Given the description of an element on the screen output the (x, y) to click on. 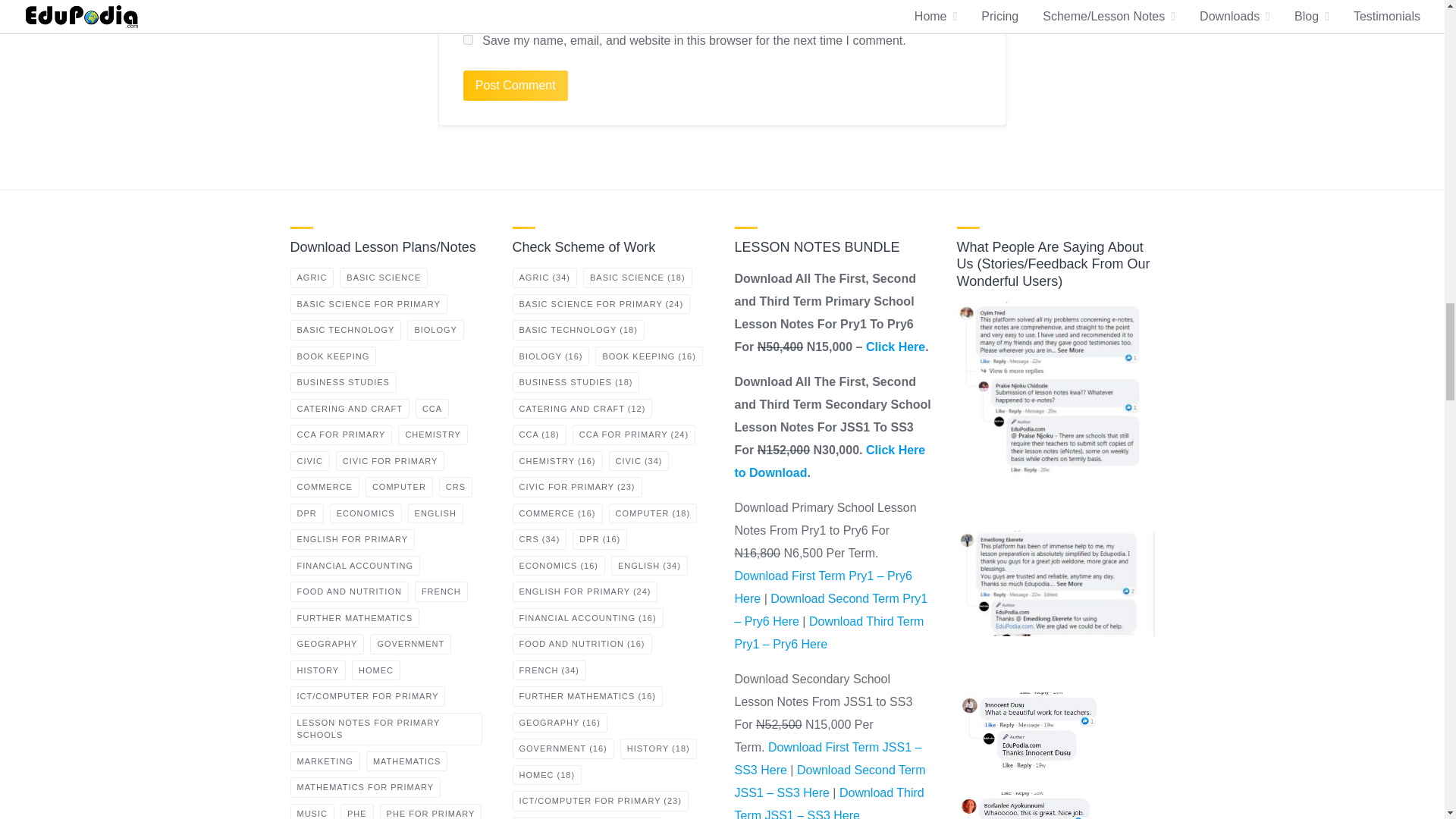
Post Comment (515, 85)
yes (468, 40)
